Given the description of an element on the screen output the (x, y) to click on. 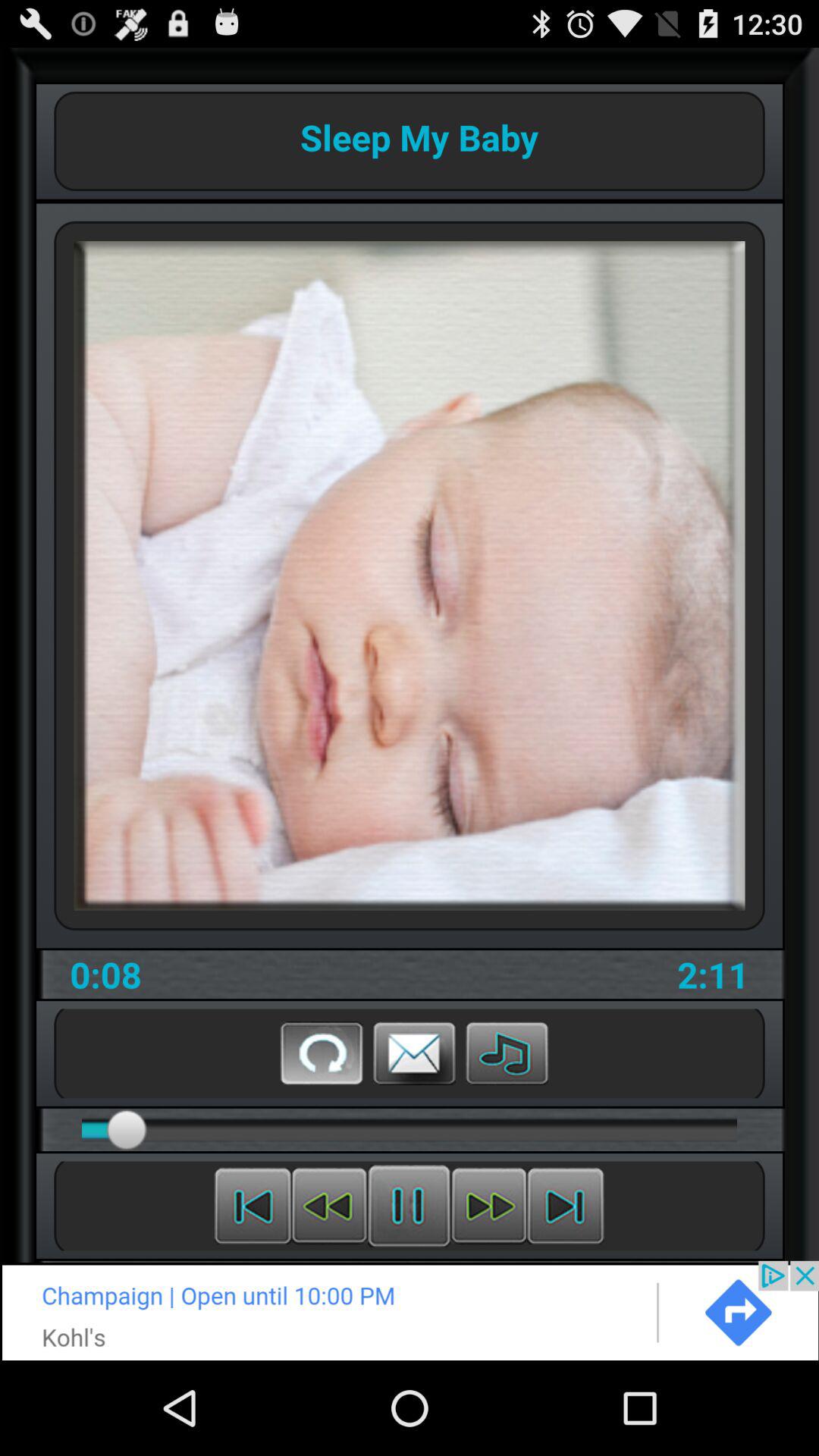
go back (321, 1053)
